Given the description of an element on the screen output the (x, y) to click on. 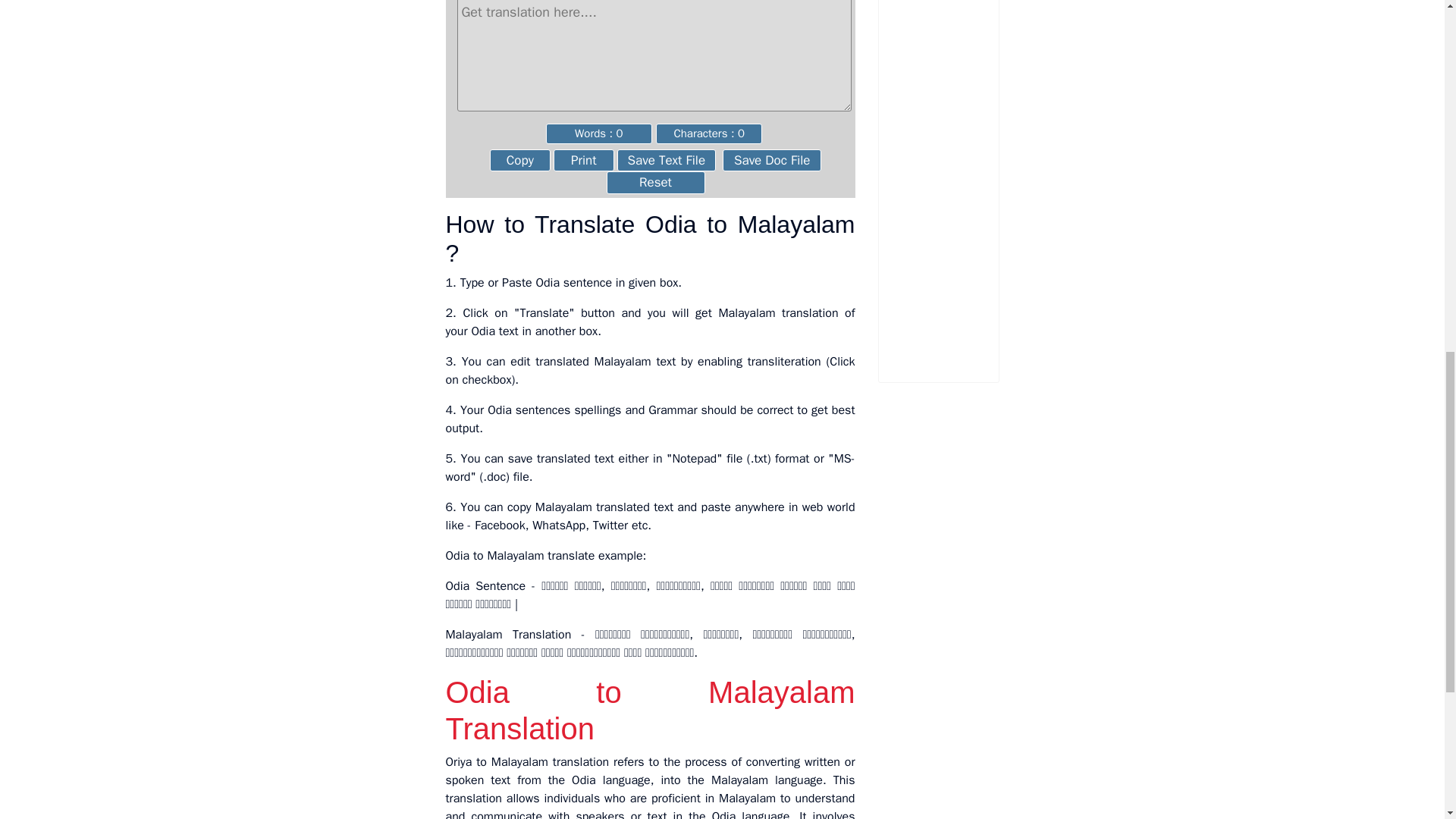
Advertisement (970, 179)
Words : 0 (599, 133)
Reset (655, 182)
Characters : 0 (708, 133)
Print (583, 159)
Copy (519, 159)
